Given the description of an element on the screen output the (x, y) to click on. 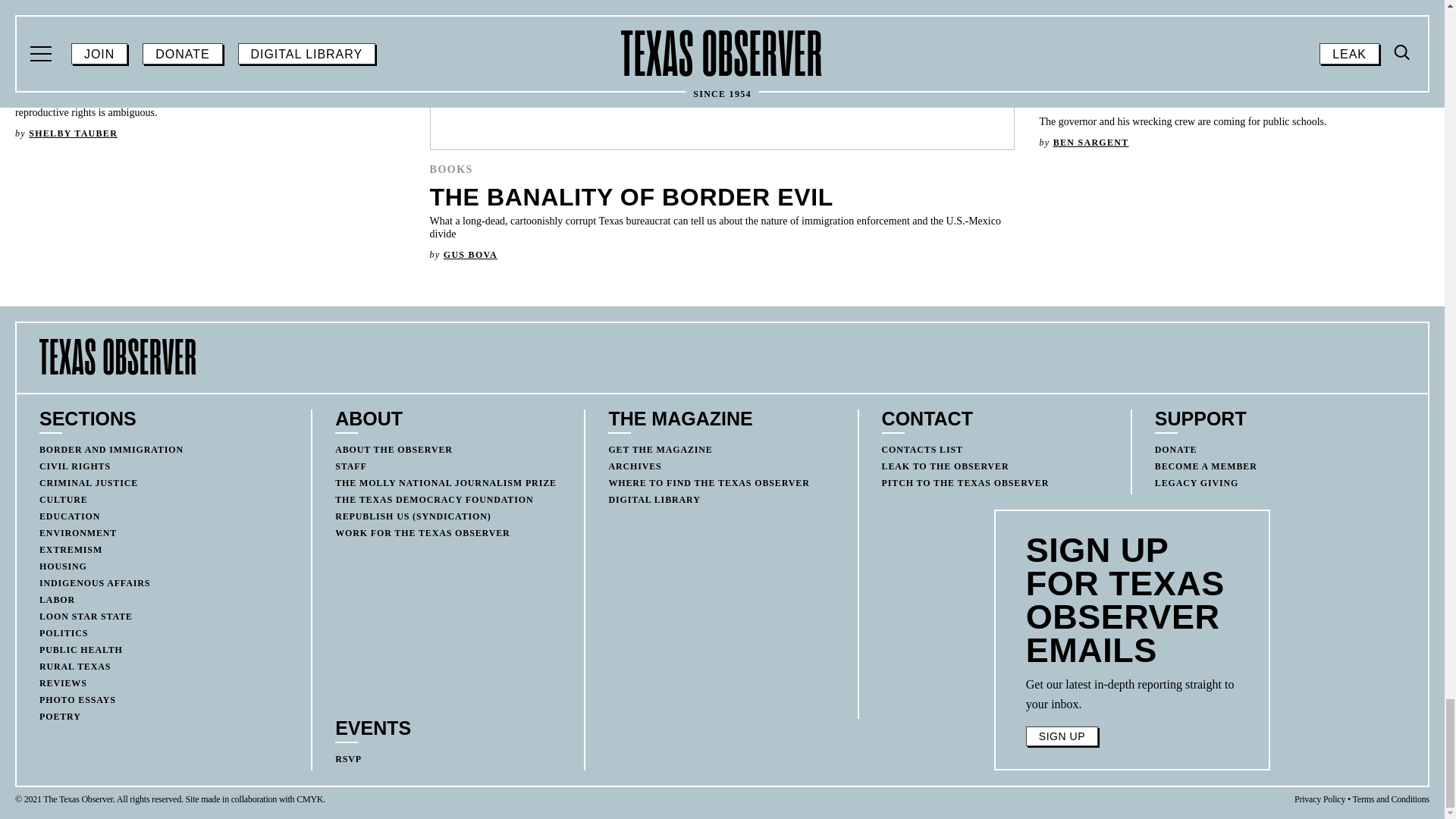
Page 6 (1132, 694)
Post by Ben Sargent (1090, 142)
Post by Gus Bova (470, 254)
Post by Shelby Tauber (73, 132)
